Given the description of an element on the screen output the (x, y) to click on. 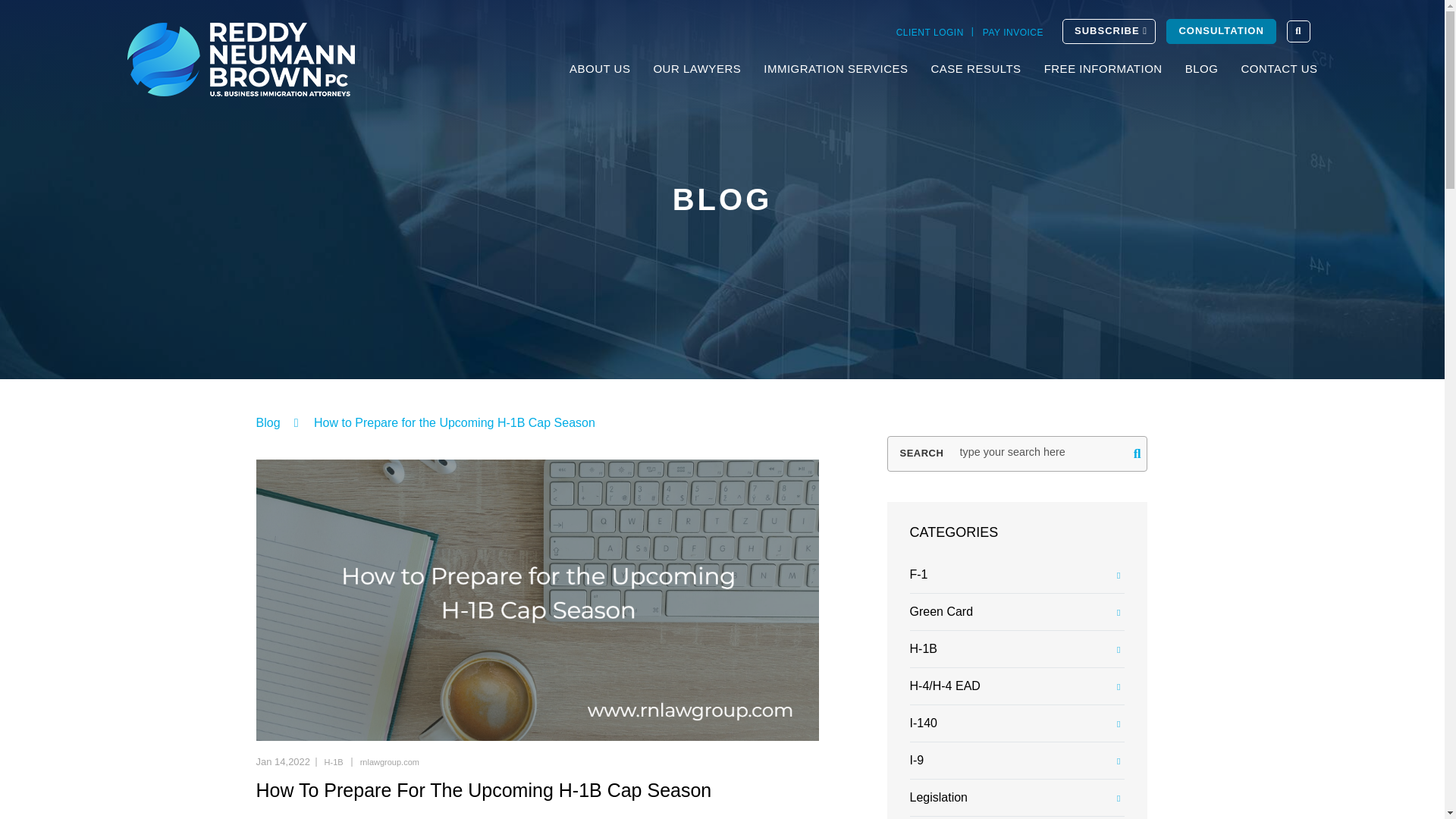
PAY INVOICE (1012, 32)
CONSULTATION (1220, 31)
Posts by rnlawgroup.com (389, 761)
ABOUT US (599, 68)
OPEN SITE SEARCH (1297, 31)
CLIENT LOGIN (929, 32)
OUR LAWYERS (696, 68)
SUBSCRIBE  (1109, 31)
